Given the description of an element on the screen output the (x, y) to click on. 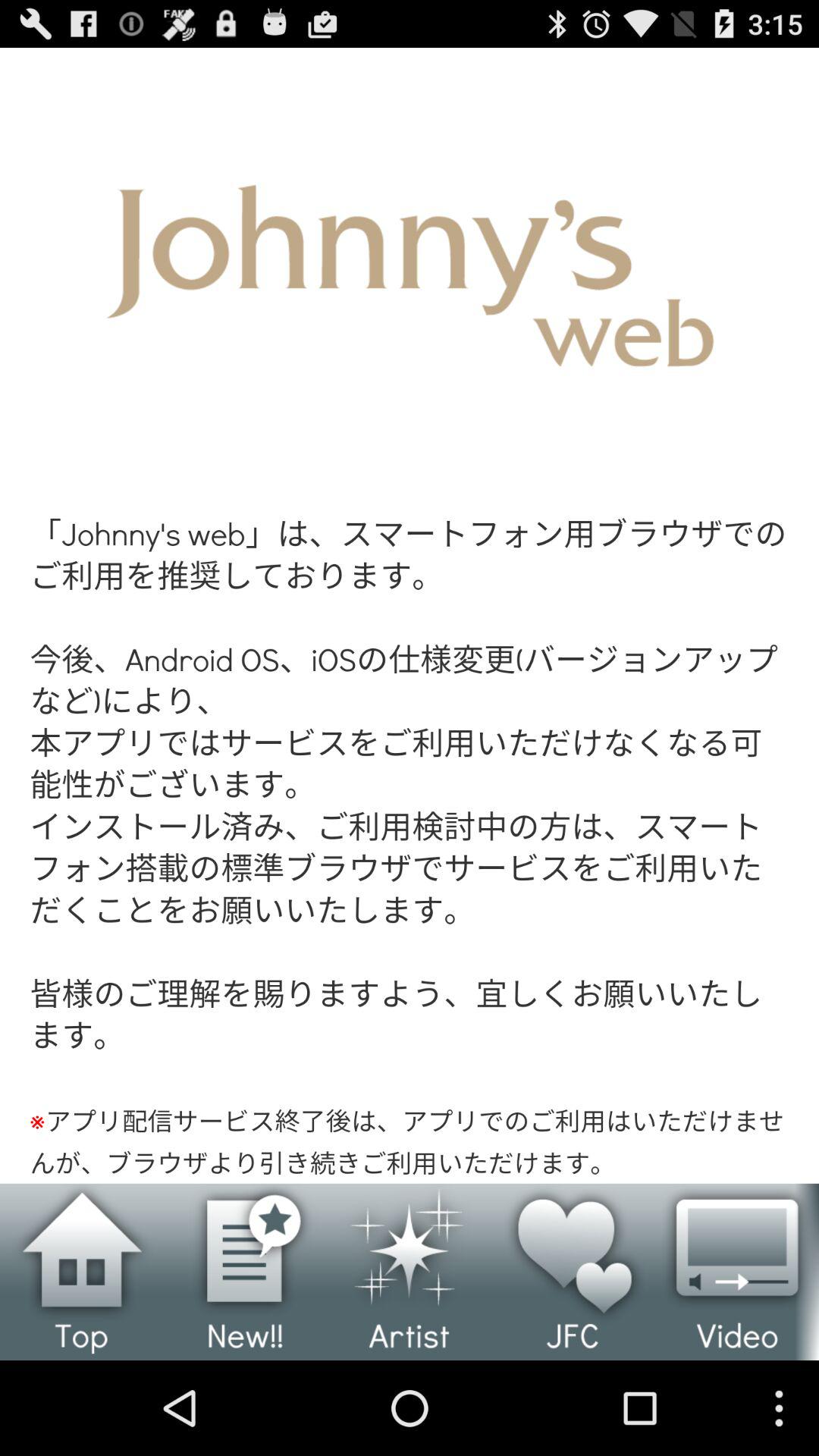
to select the new option (245, 1271)
